Given the description of an element on the screen output the (x, y) to click on. 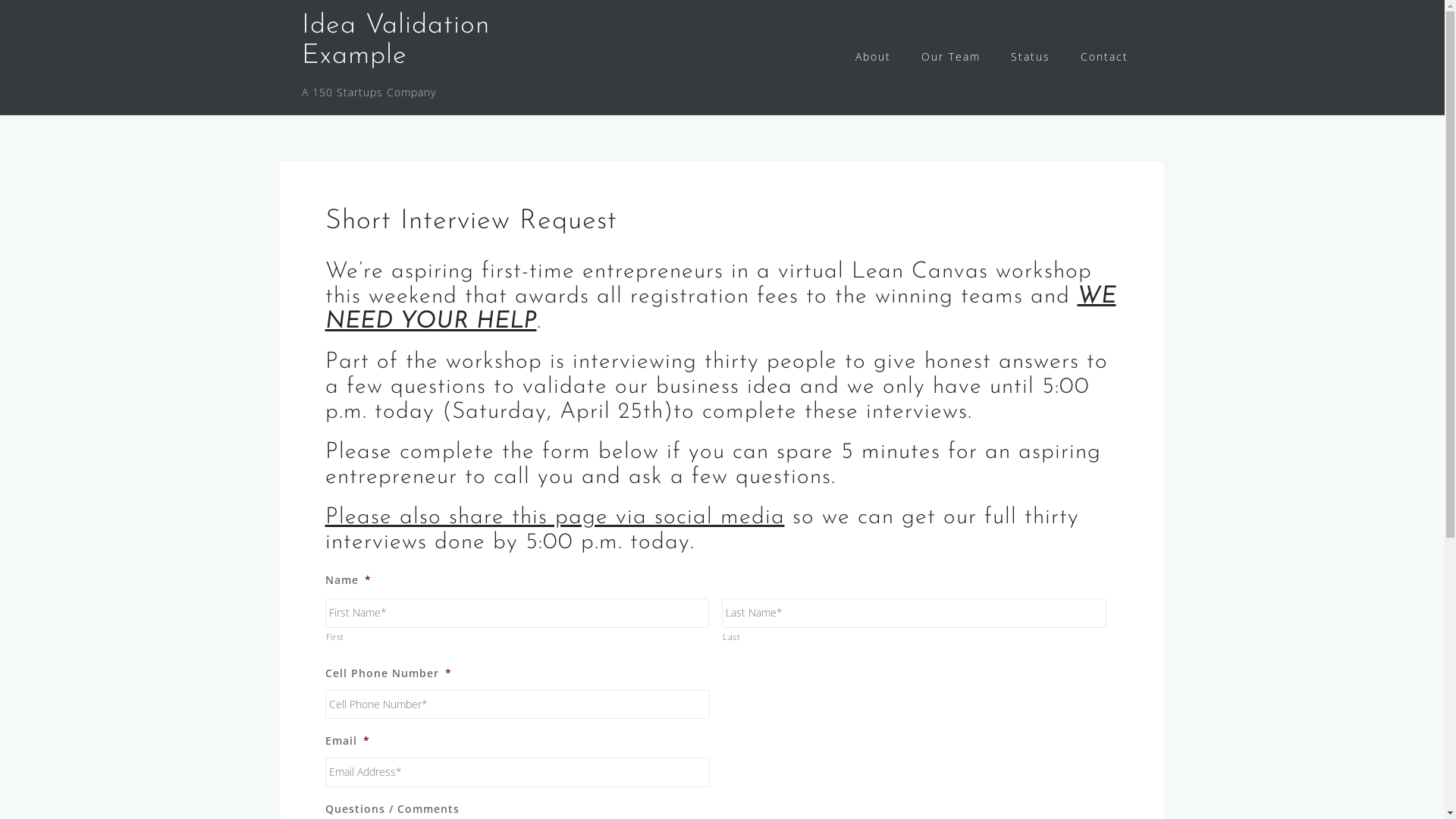
Contact Element type: text (1103, 56)
Our Team Element type: text (949, 56)
Status Element type: text (1029, 56)
Idea Validation Example Element type: text (395, 40)
About Element type: text (873, 56)
